Given the description of an element on the screen output the (x, y) to click on. 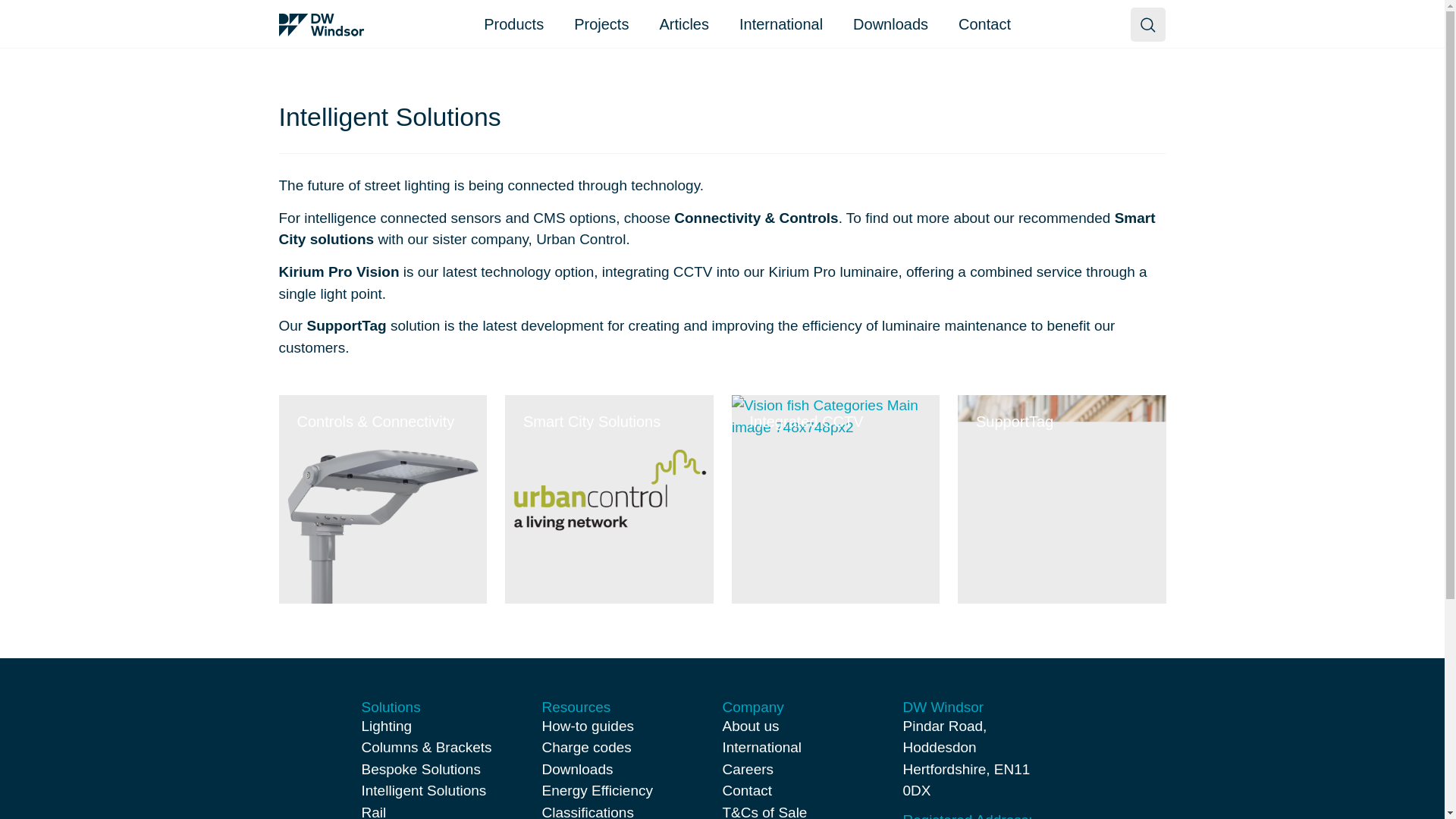
Careers (747, 769)
Smart City Solutions (609, 498)
SupportTag (1062, 498)
Articles (684, 24)
International (780, 24)
Downloads (576, 769)
What is an Elexon charge code? (585, 747)
How-to guides (587, 725)
Projects (600, 24)
Intelligent Solutions (423, 790)
Lighting (386, 725)
Rail (373, 811)
Downloads (890, 24)
Integrated CCTV (834, 498)
International (762, 747)
